Given the description of an element on the screen output the (x, y) to click on. 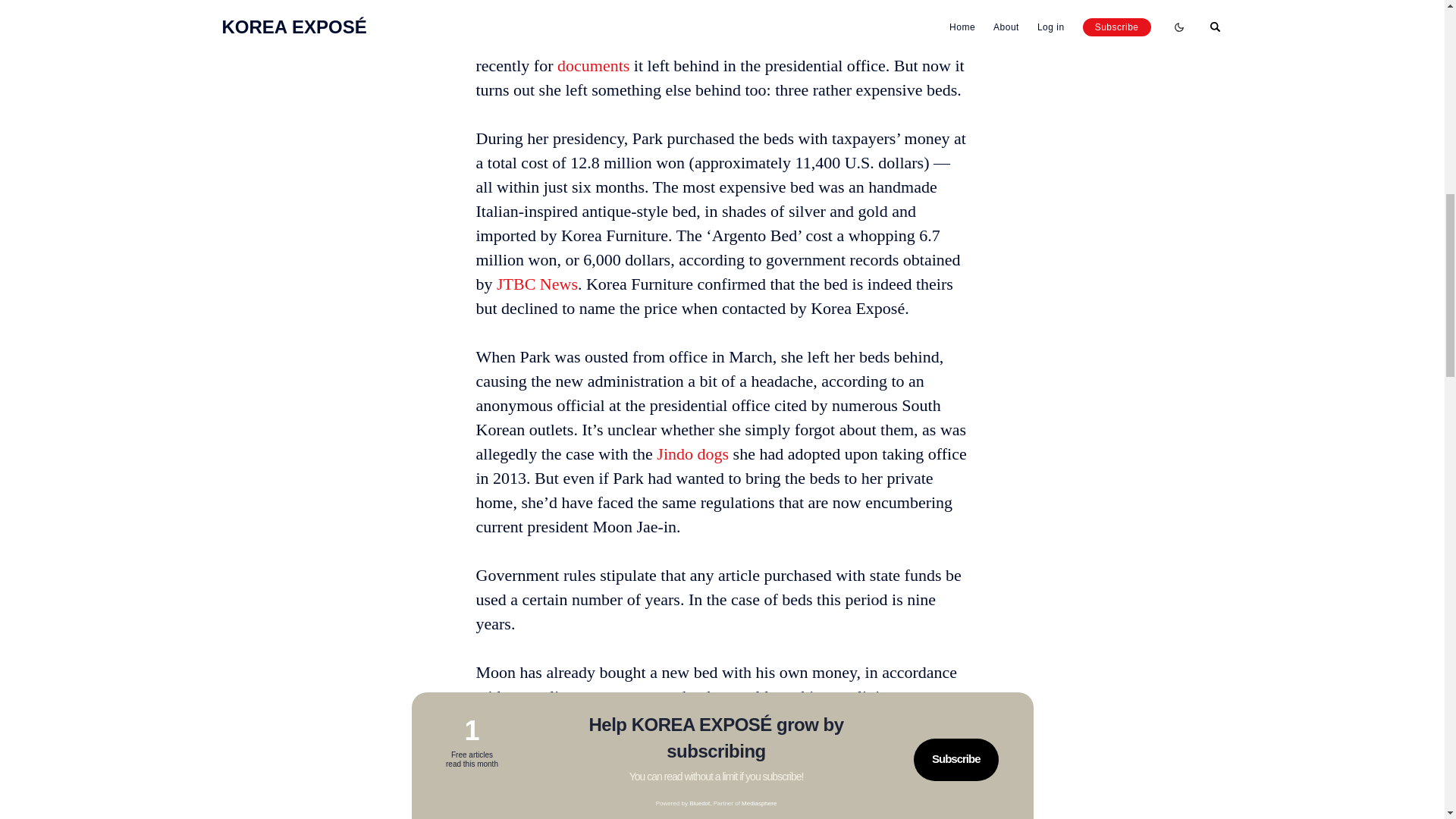
Jindo dogs (692, 453)
JTBC News (537, 283)
documents (592, 65)
